Given the description of an element on the screen output the (x, y) to click on. 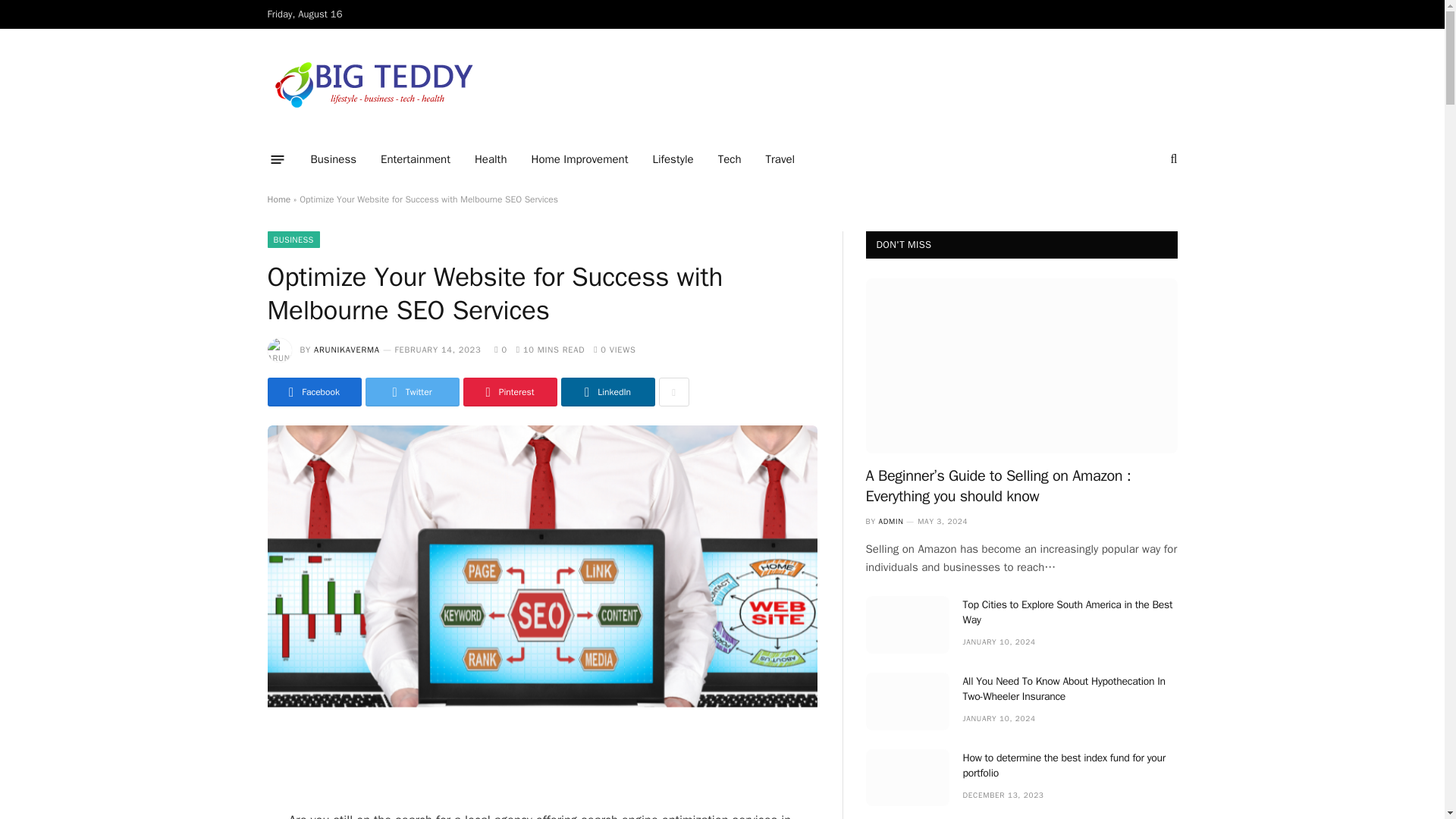
Health (491, 159)
Pinterest (509, 391)
Entertainment (415, 159)
0 (500, 348)
Business (333, 159)
ARUNIKAVERMA (347, 348)
Share on Facebook (313, 391)
0 Article Views (614, 348)
Home (277, 199)
Lifestyle (672, 159)
